Given the description of an element on the screen output the (x, y) to click on. 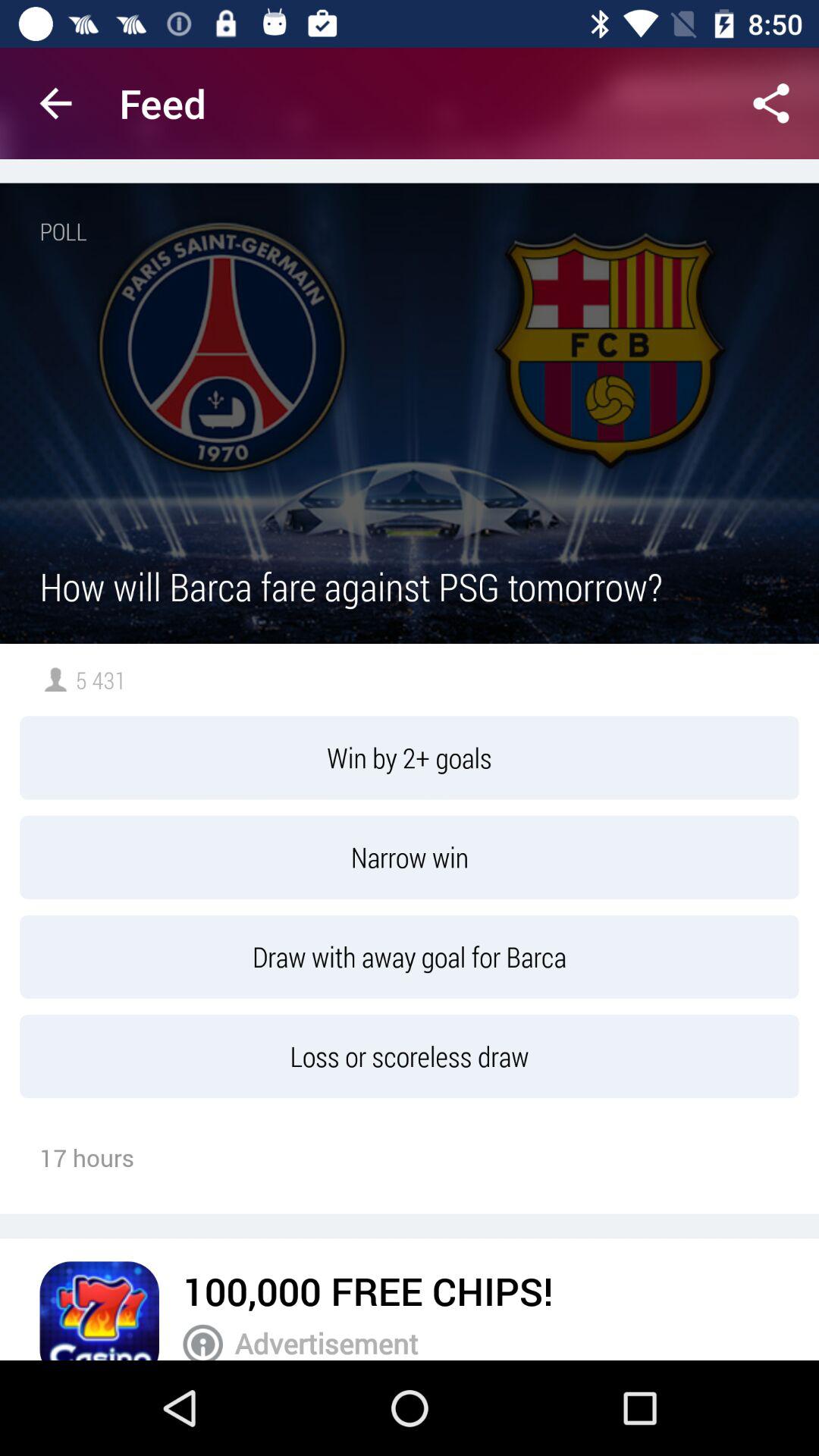
flip until the win by 2 icon (409, 757)
